Given the description of an element on the screen output the (x, y) to click on. 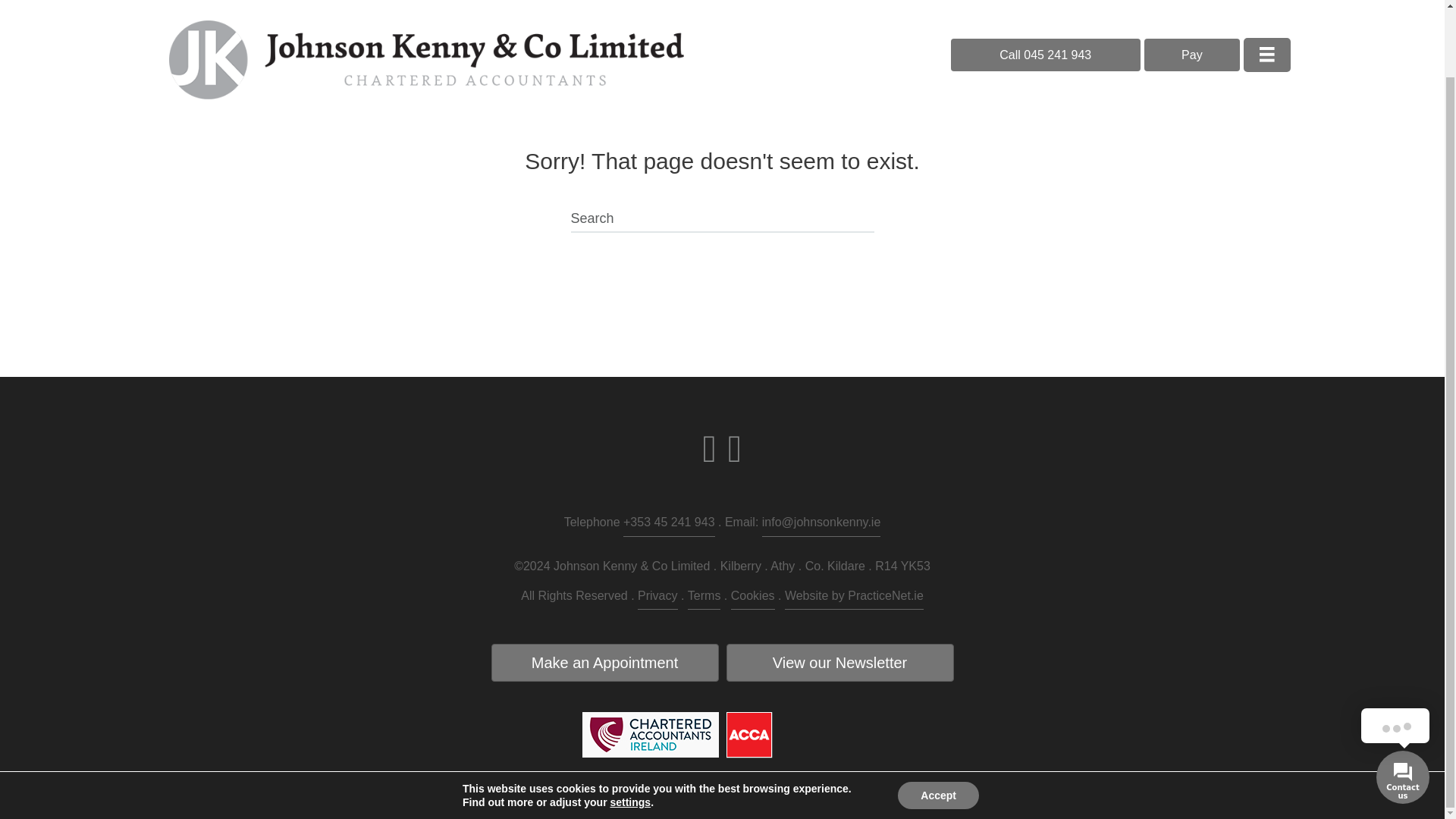
View our Newsletter (839, 662)
ACCA LOGO RED (749, 734)
Search (721, 219)
Accept (938, 720)
Make an Appointment (605, 662)
Terms (703, 597)
Privacy (657, 597)
Website by PracticeNet.ie (853, 597)
Johnson-Kenny-and-Co-logo (426, 12)
Cookies (752, 597)
Search (721, 219)
Type and press Enter to search. (721, 219)
chartered-accountants-ireland-logo-min (650, 734)
